Given the description of an element on the screen output the (x, y) to click on. 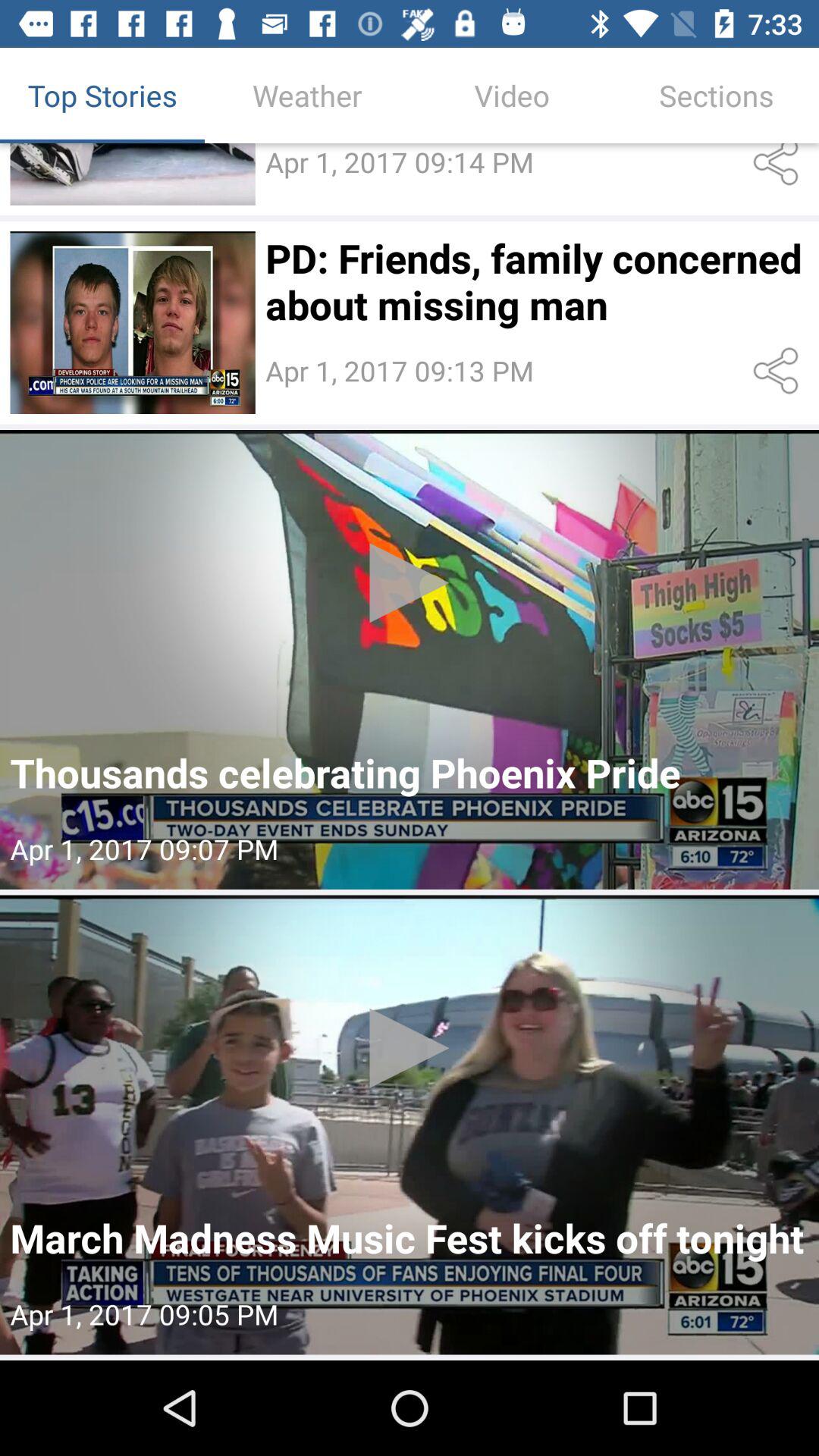
share the video (778, 167)
